Given the description of an element on the screen output the (x, y) to click on. 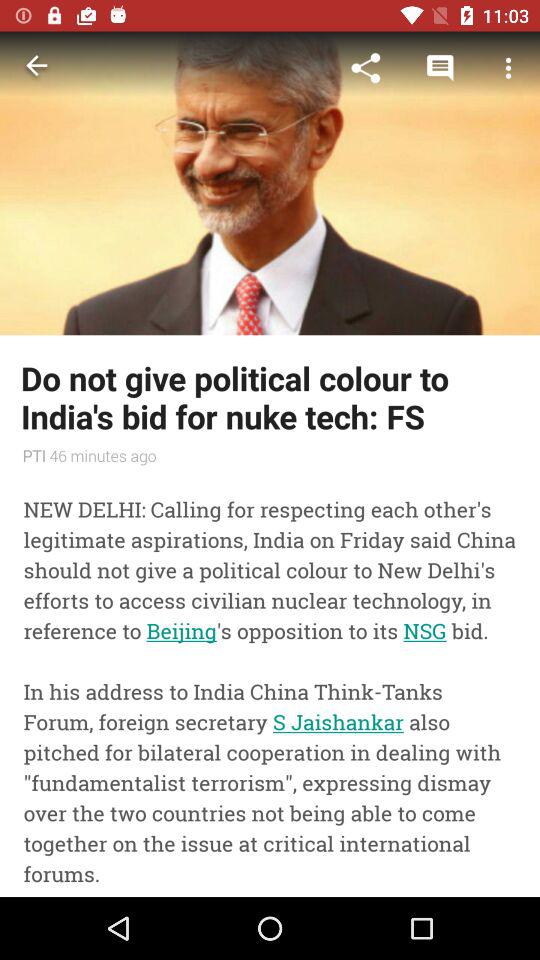
flip until new delhi calling (270, 683)
